Given the description of an element on the screen output the (x, y) to click on. 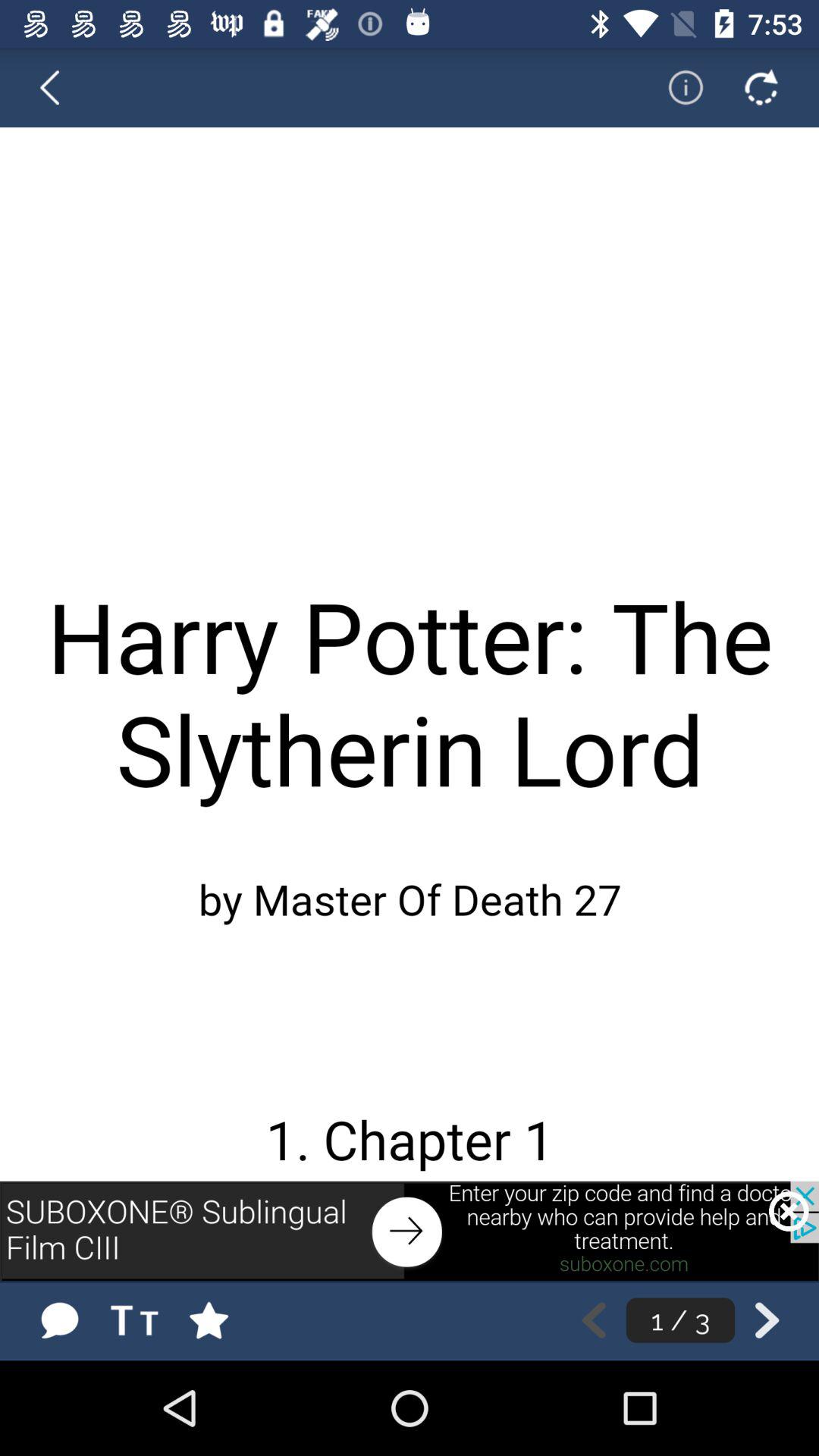
info (675, 87)
